Given the description of an element on the screen output the (x, y) to click on. 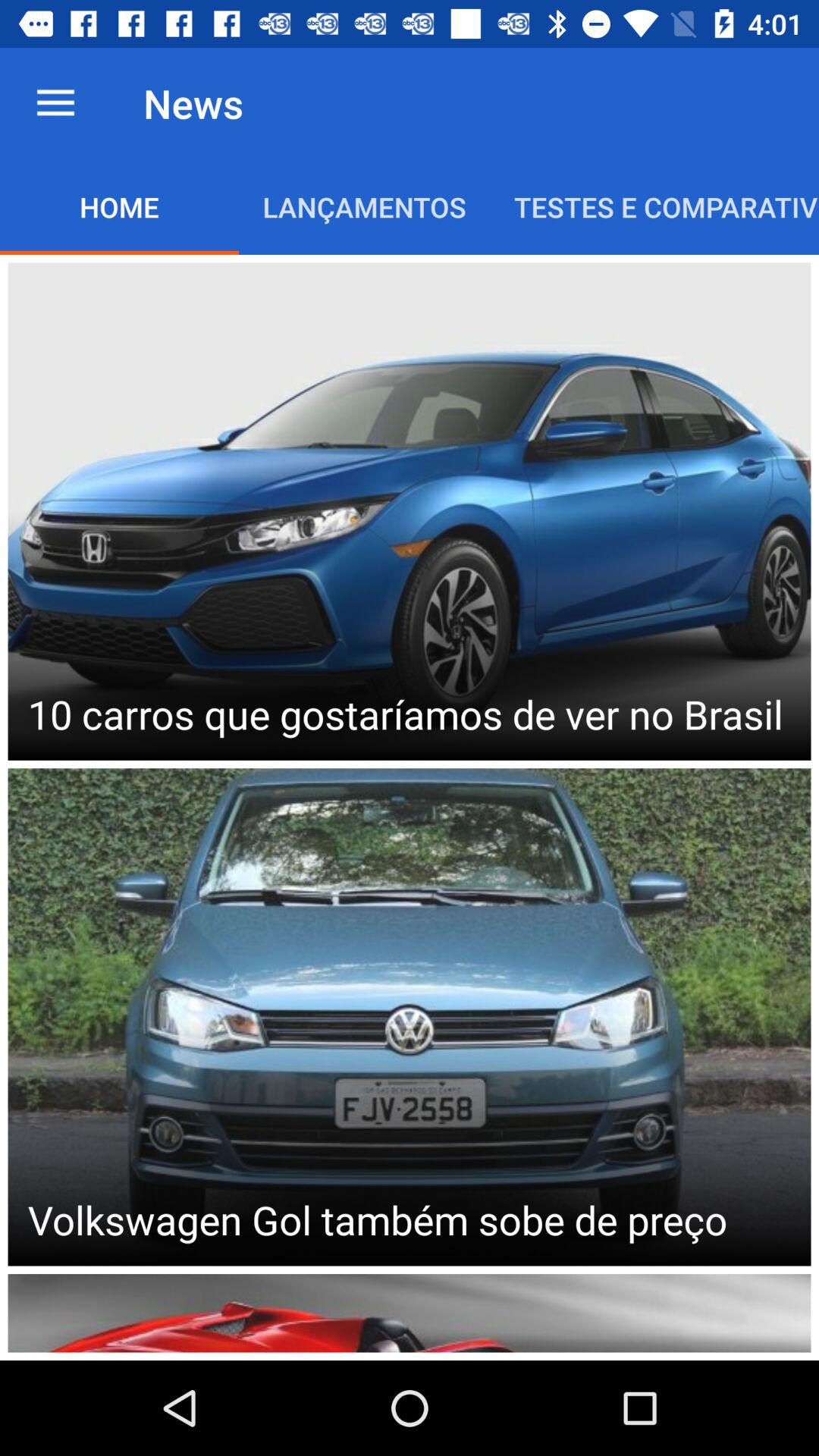
click on the first image (409, 511)
